Given the description of an element on the screen output the (x, y) to click on. 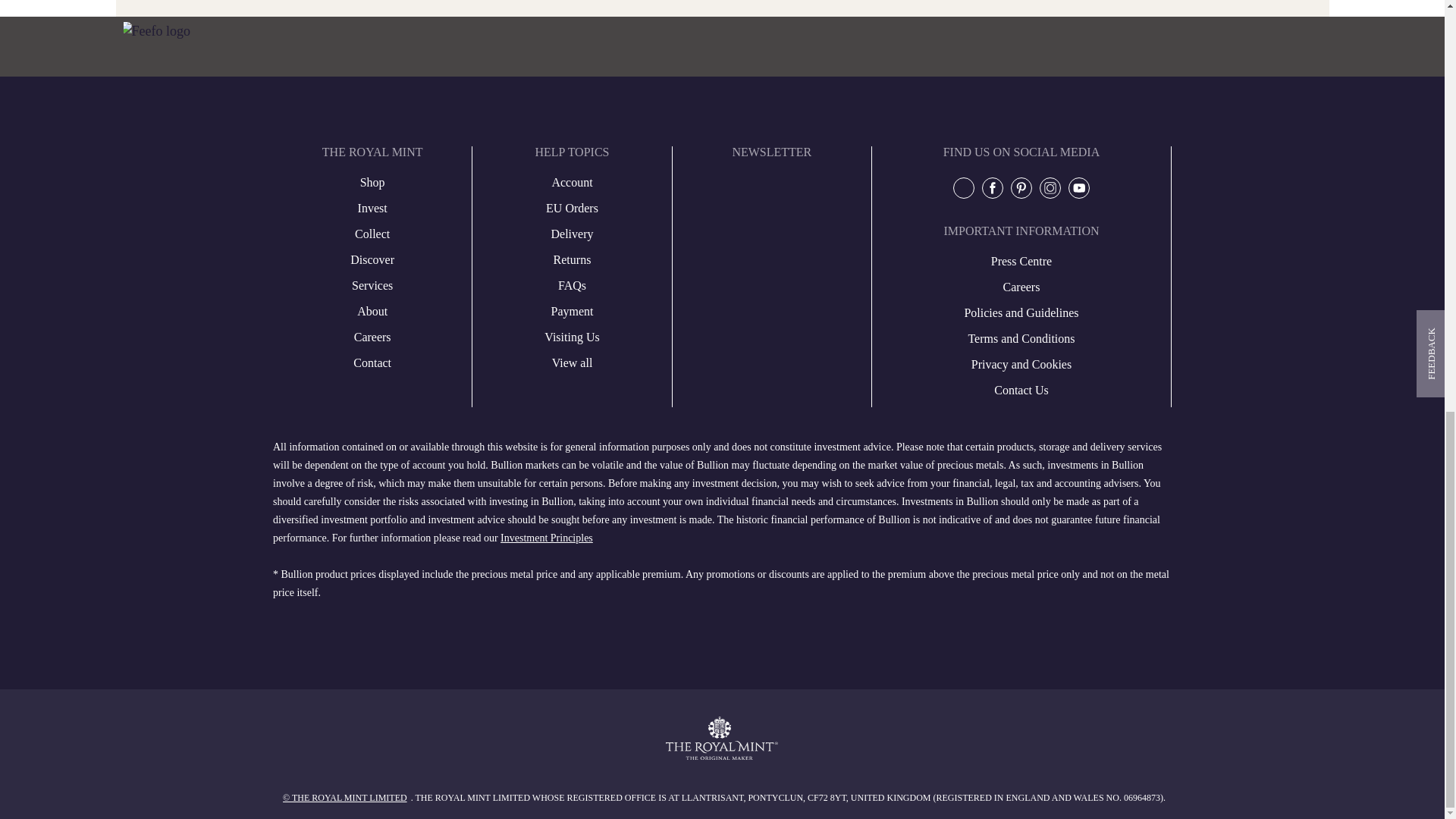
Press Centre (372, 311)
Press Centre (372, 285)
Our Location (372, 259)
View all help topics (571, 362)
Pintrest (1020, 187)
Contact (372, 362)
Orders to the European Union (571, 208)
Facebook (992, 187)
Read more independent Royal Mint reviews on Feefo (154, 31)
